Given the description of an element on the screen output the (x, y) to click on. 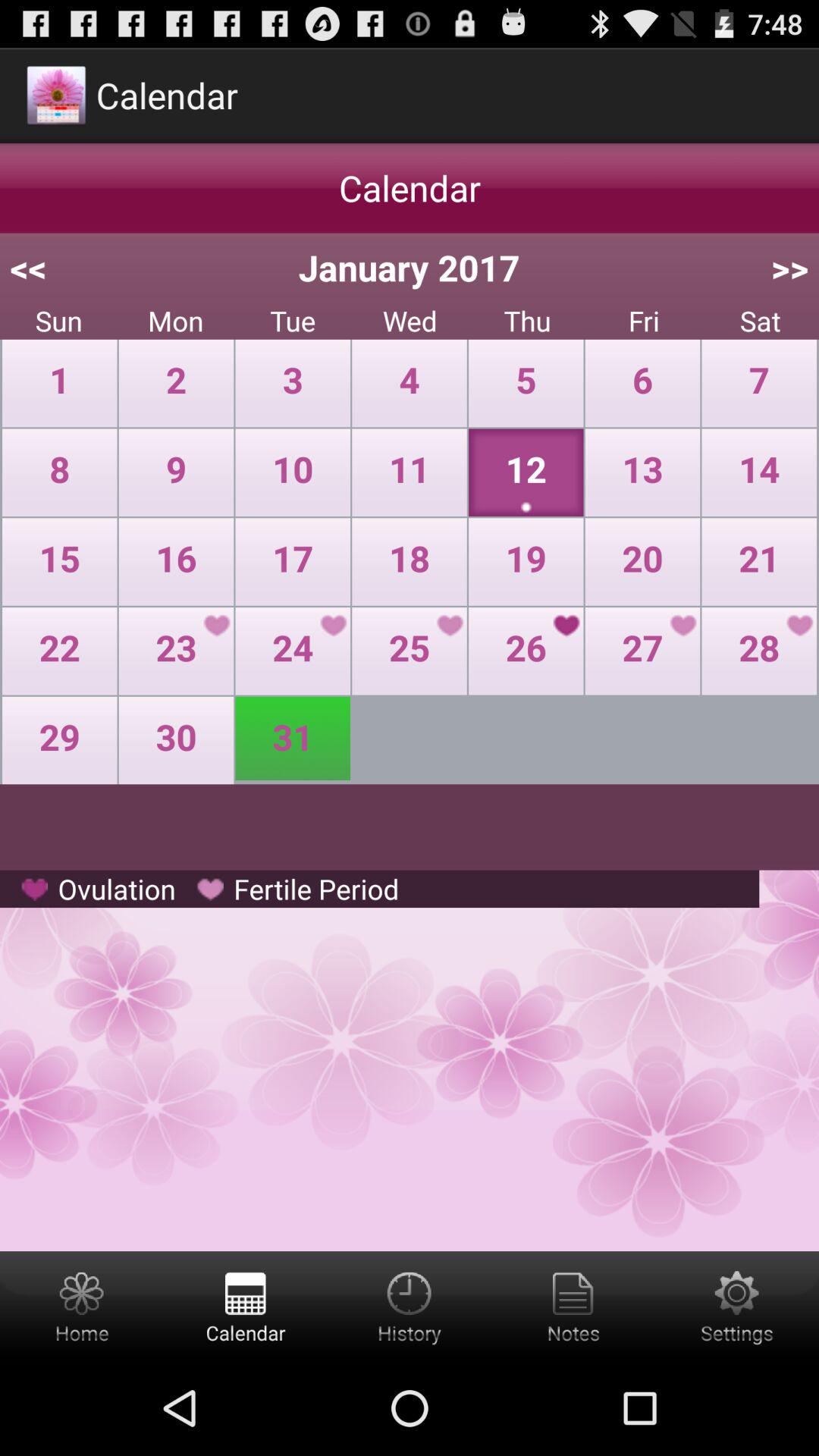
click the calendar option (245, 1305)
